Given the description of an element on the screen output the (x, y) to click on. 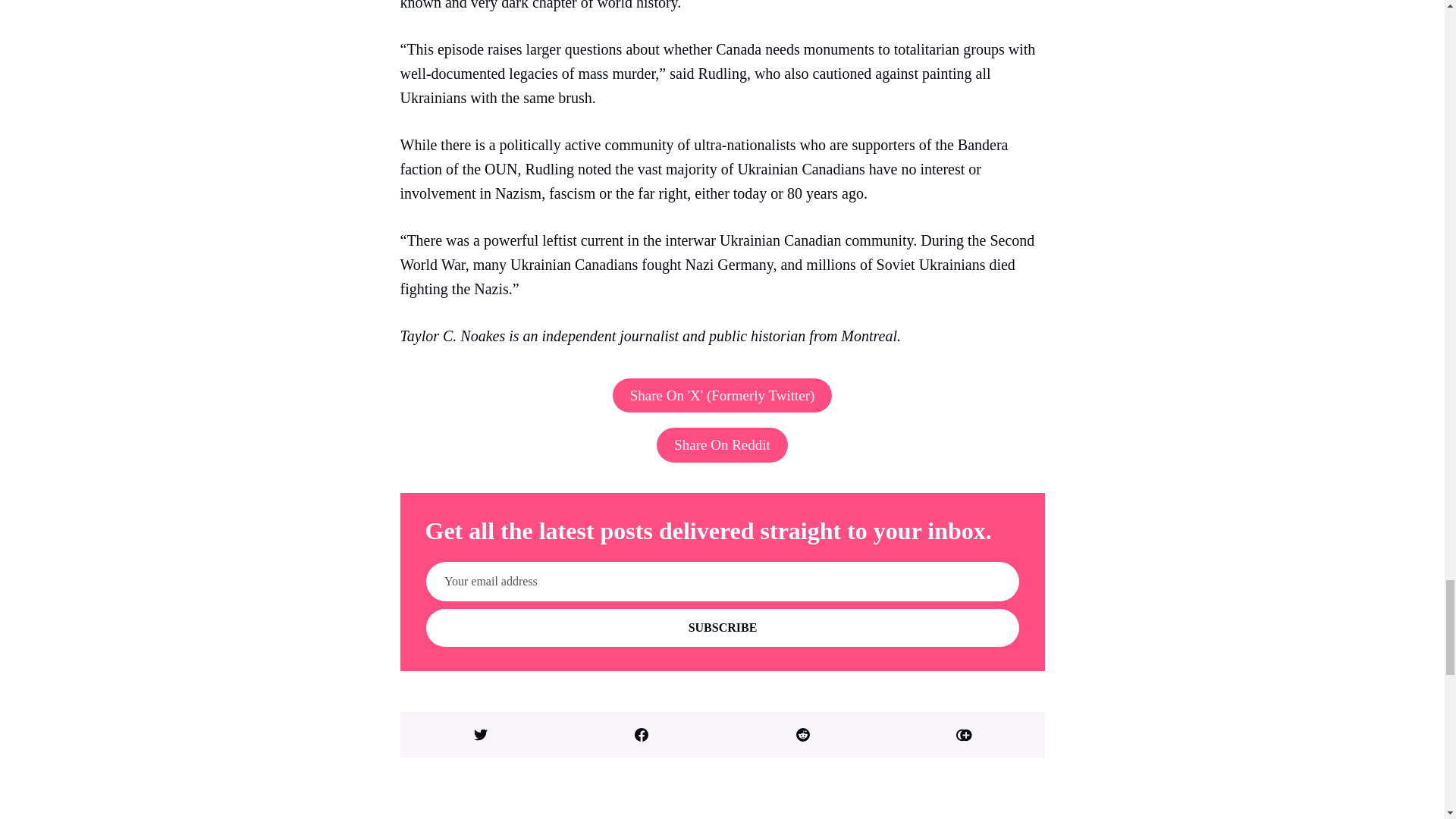
Share On Reddit (721, 444)
SUBSCRIBE (722, 628)
